Given the description of an element on the screen output the (x, y) to click on. 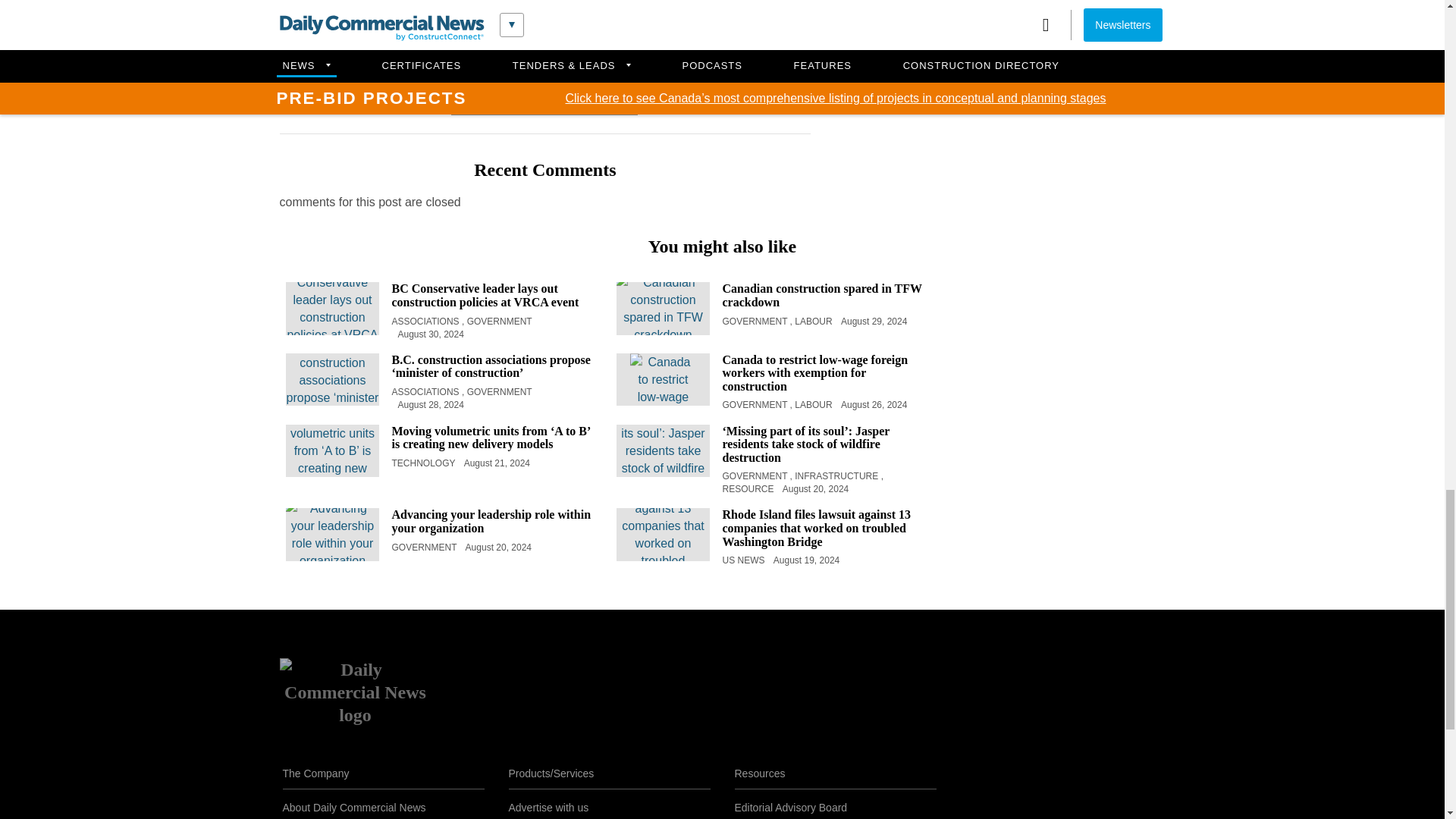
Print (619, 102)
Email (581, 103)
LinkedIn (544, 103)
Twitter (506, 103)
Facebook (470, 103)
